Given the description of an element on the screen output the (x, y) to click on. 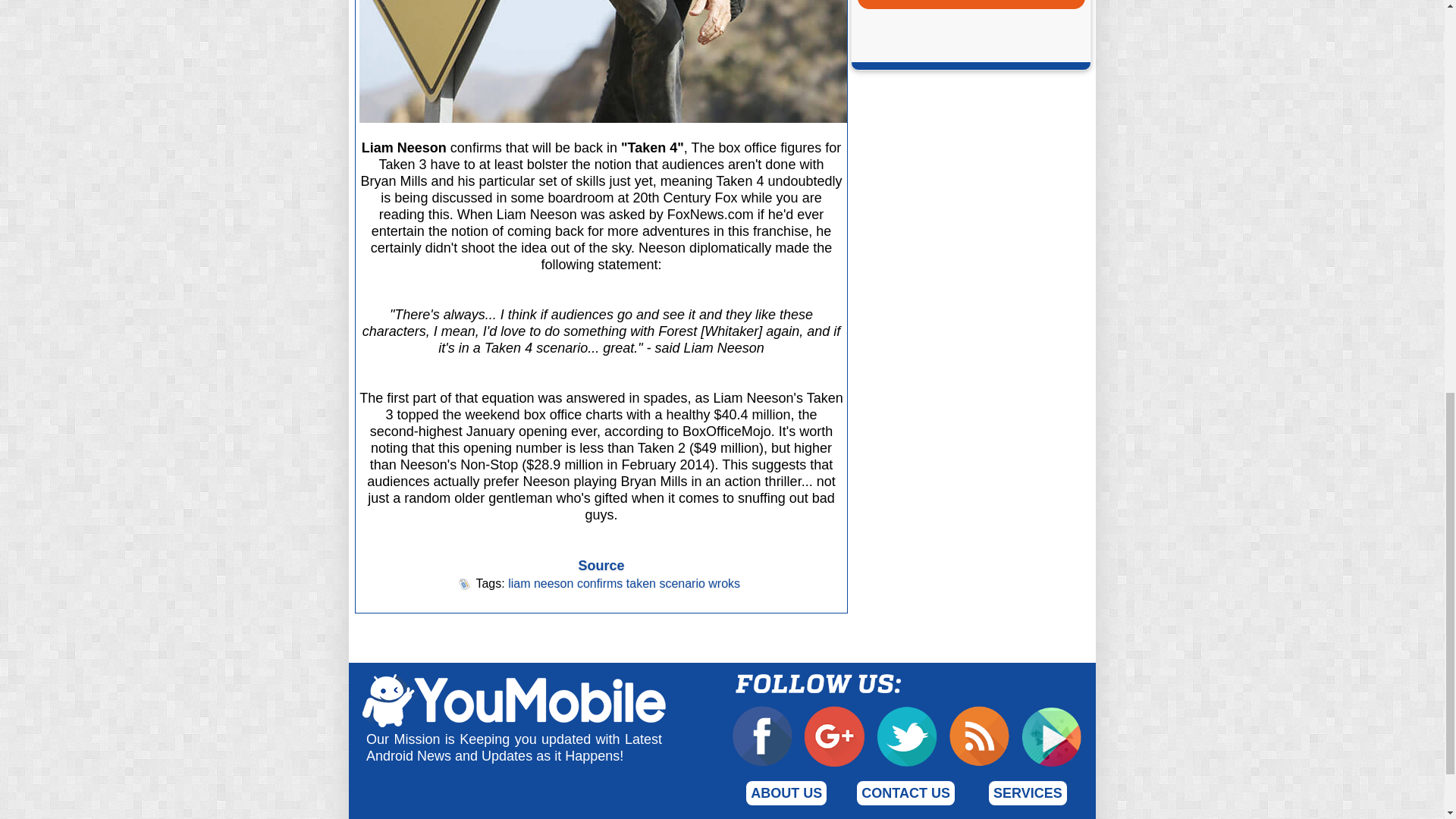
All Android Updates (970, 2)
taken 4 (738, 61)
